Given the description of an element on the screen output the (x, y) to click on. 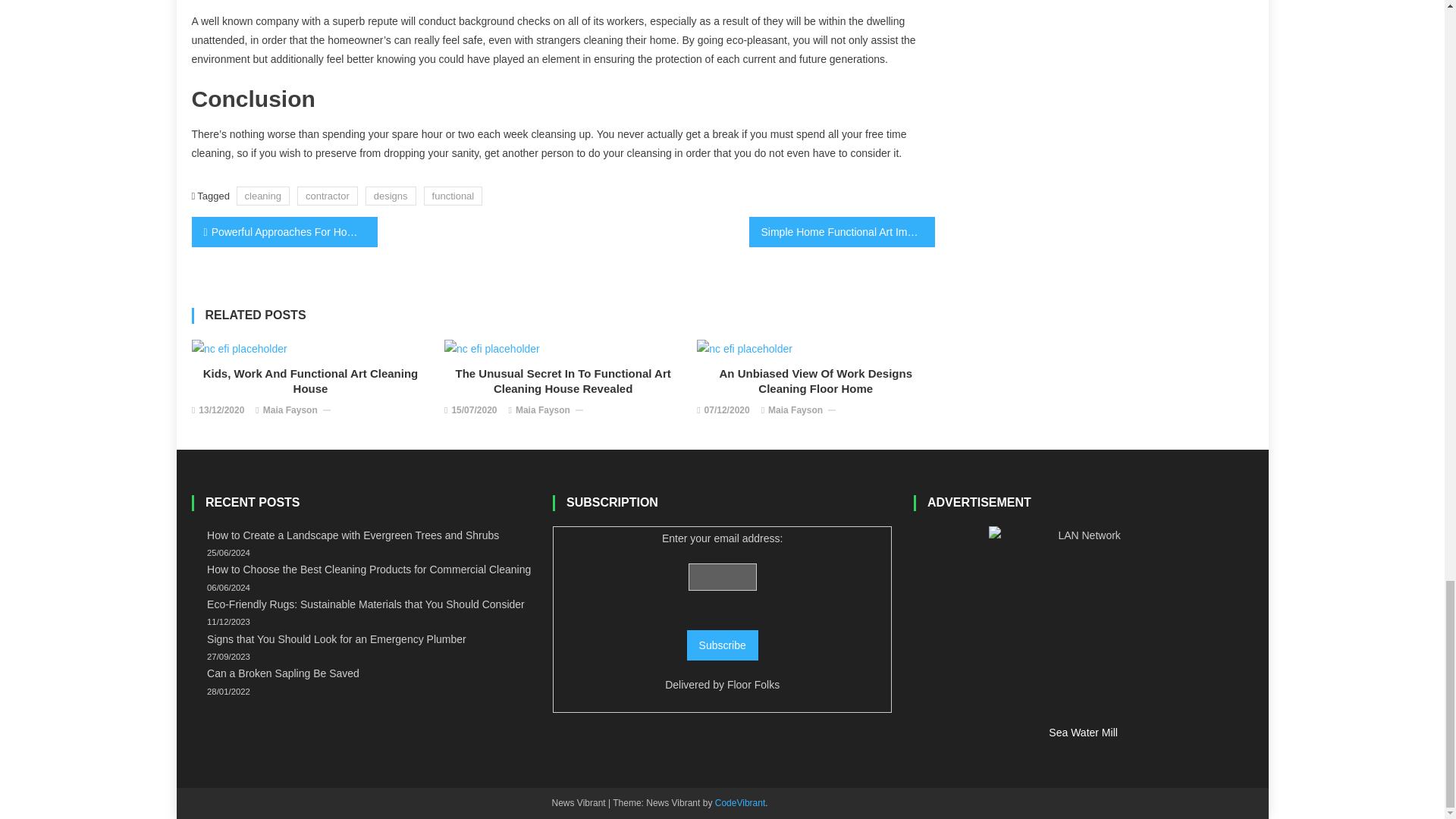
Kids, Work And Functional Art Cleaning House (310, 381)
cleaning (262, 195)
contractor (327, 195)
functional (453, 195)
Subscribe (722, 644)
Kids, Work and Functional Art Cleaning House (239, 348)
designs (390, 195)
An Unbiased View of Work Designs Cleaning Floor Home (744, 348)
